Given the description of an element on the screen output the (x, y) to click on. 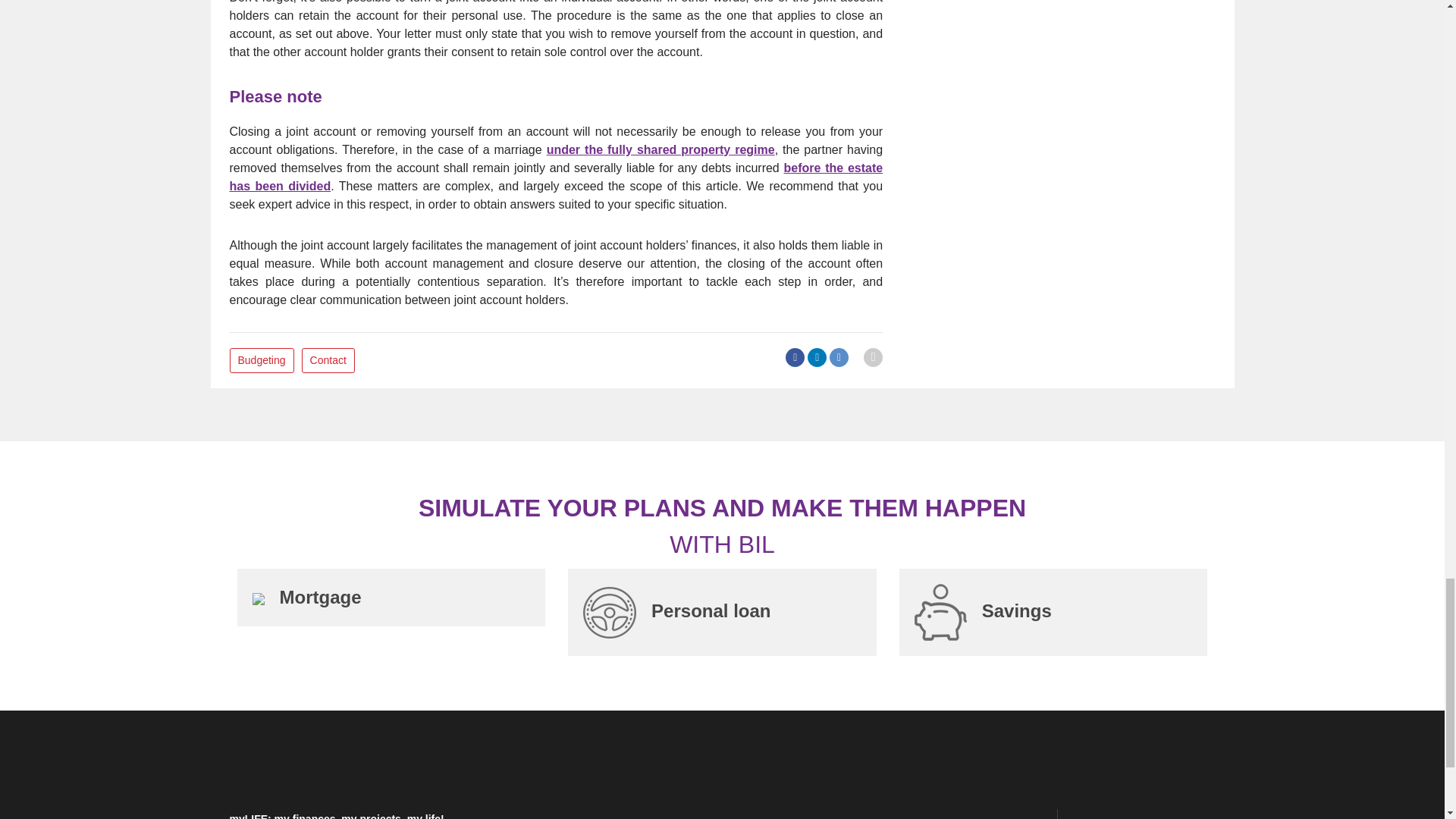
Share on LinkedIn (817, 357)
Share on Tweeter (838, 357)
